Given the description of an element on the screen output the (x, y) to click on. 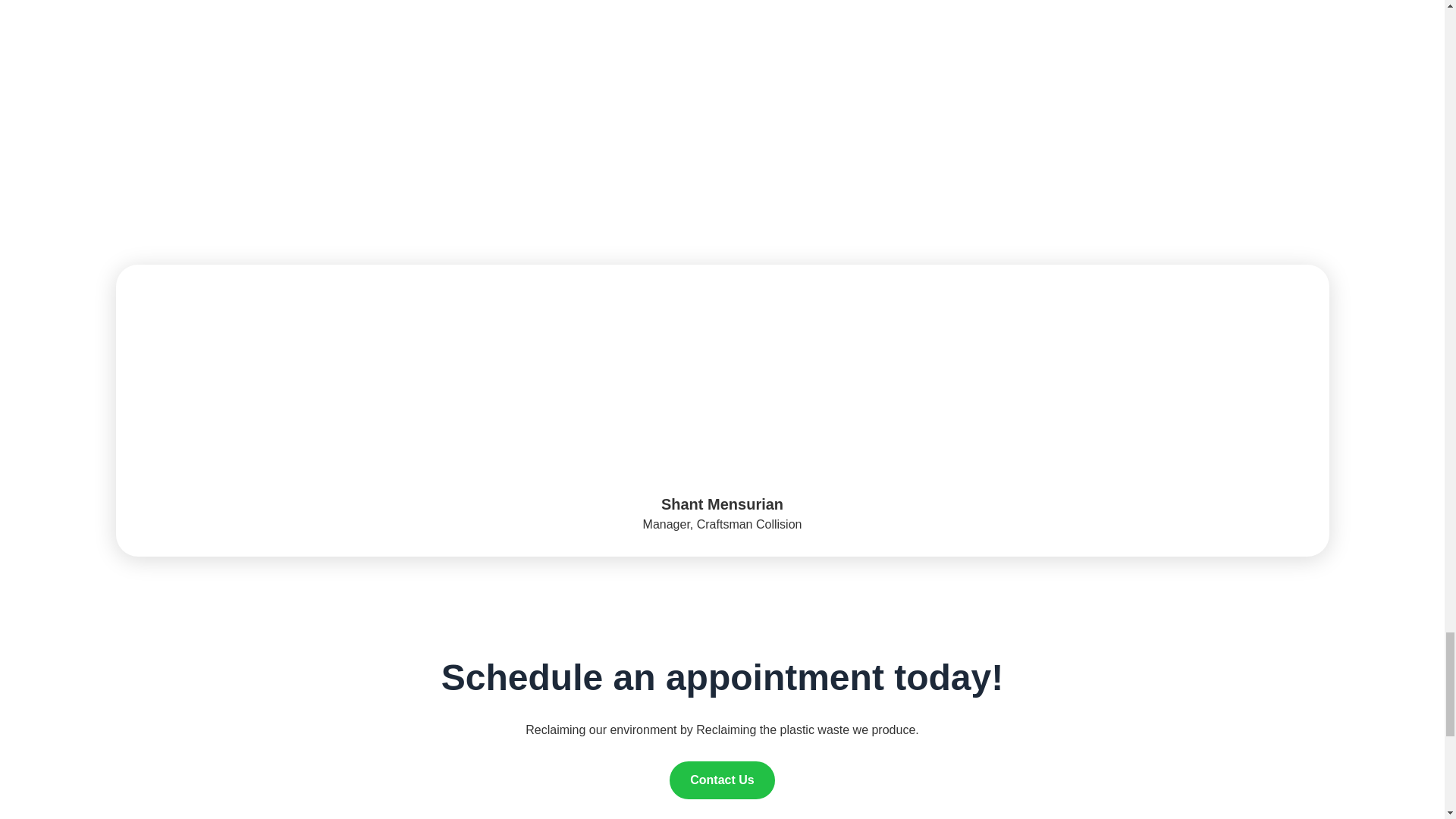
Contact Us (721, 780)
